Given the description of an element on the screen output the (x, y) to click on. 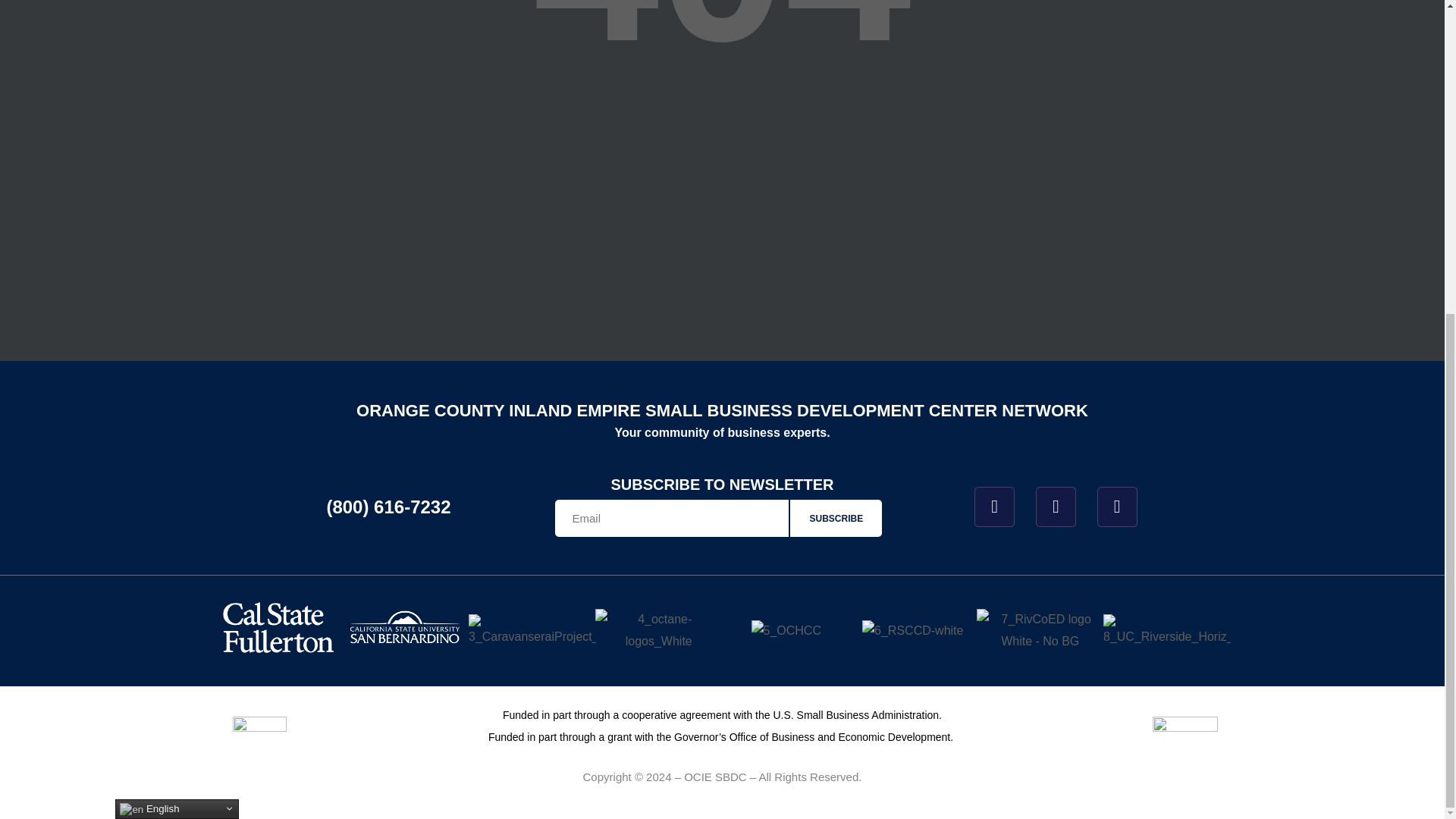
SUBSCRIBE (835, 518)
